Given the description of an element on the screen output the (x, y) to click on. 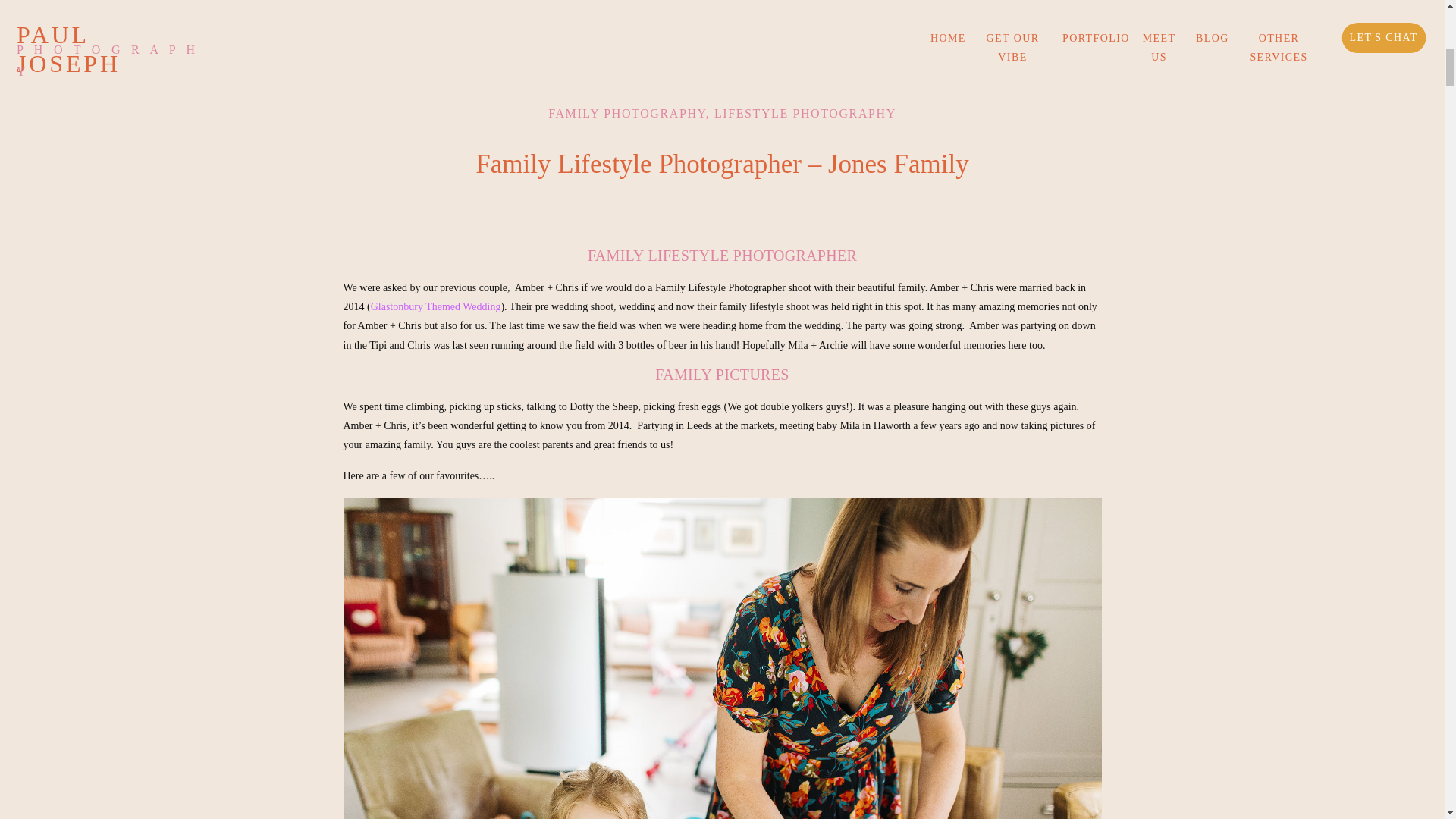
Glastonbury Themed Wedding (435, 306)
FAMILY PHOTOGRAPHY (627, 113)
LIFESTYLE PHOTOGRAPHY (805, 113)
